Given the description of an element on the screen output the (x, y) to click on. 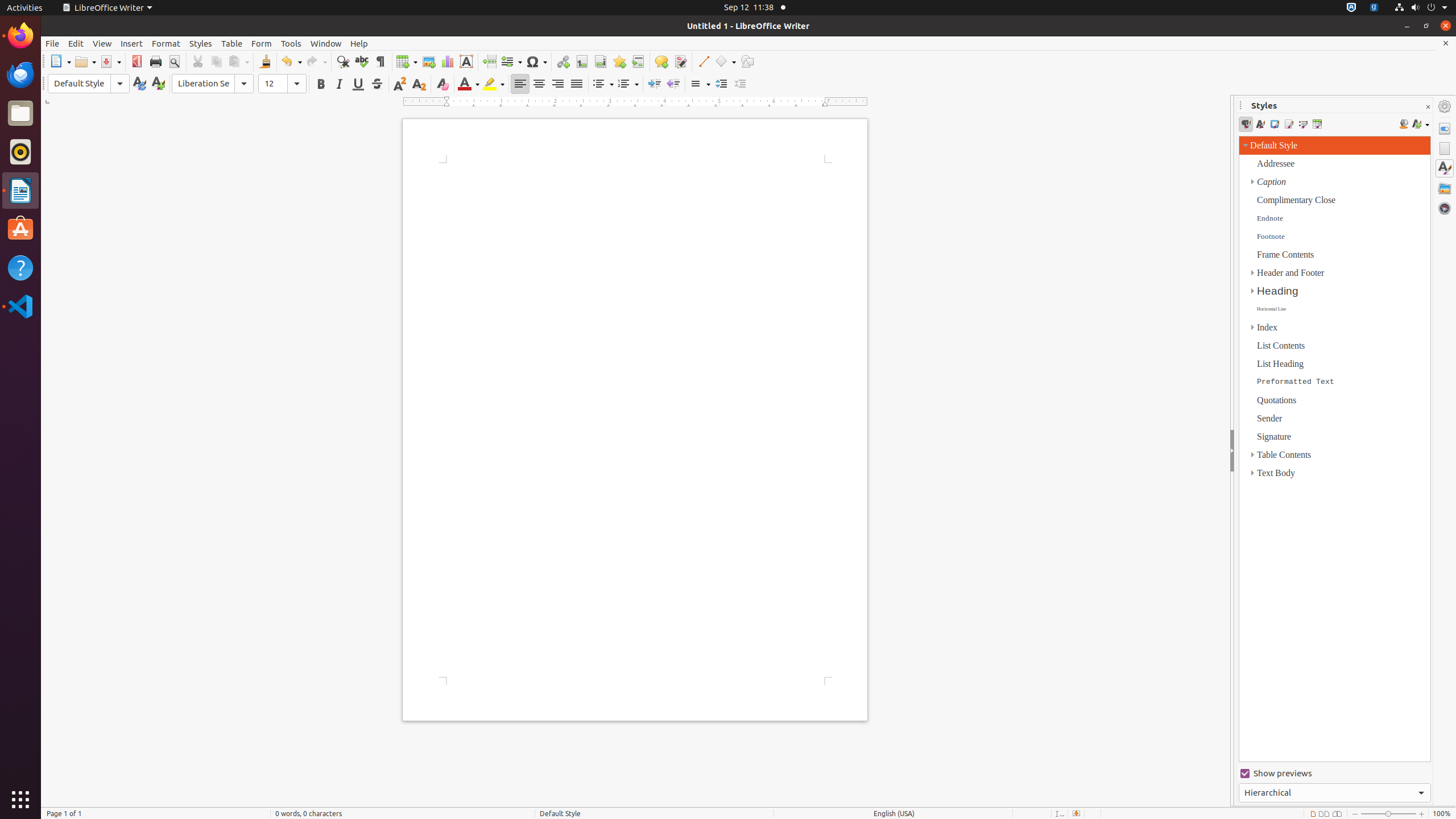
Strikethrough Element type: toggle-button (376, 83)
Undo Element type: push-button (290, 61)
org.kde.StatusNotifierItem-14077-1 Element type: menu (1373, 7)
Right Element type: toggle-button (557, 83)
Chart Element type: push-button (446, 61)
